Given the description of an element on the screen output the (x, y) to click on. 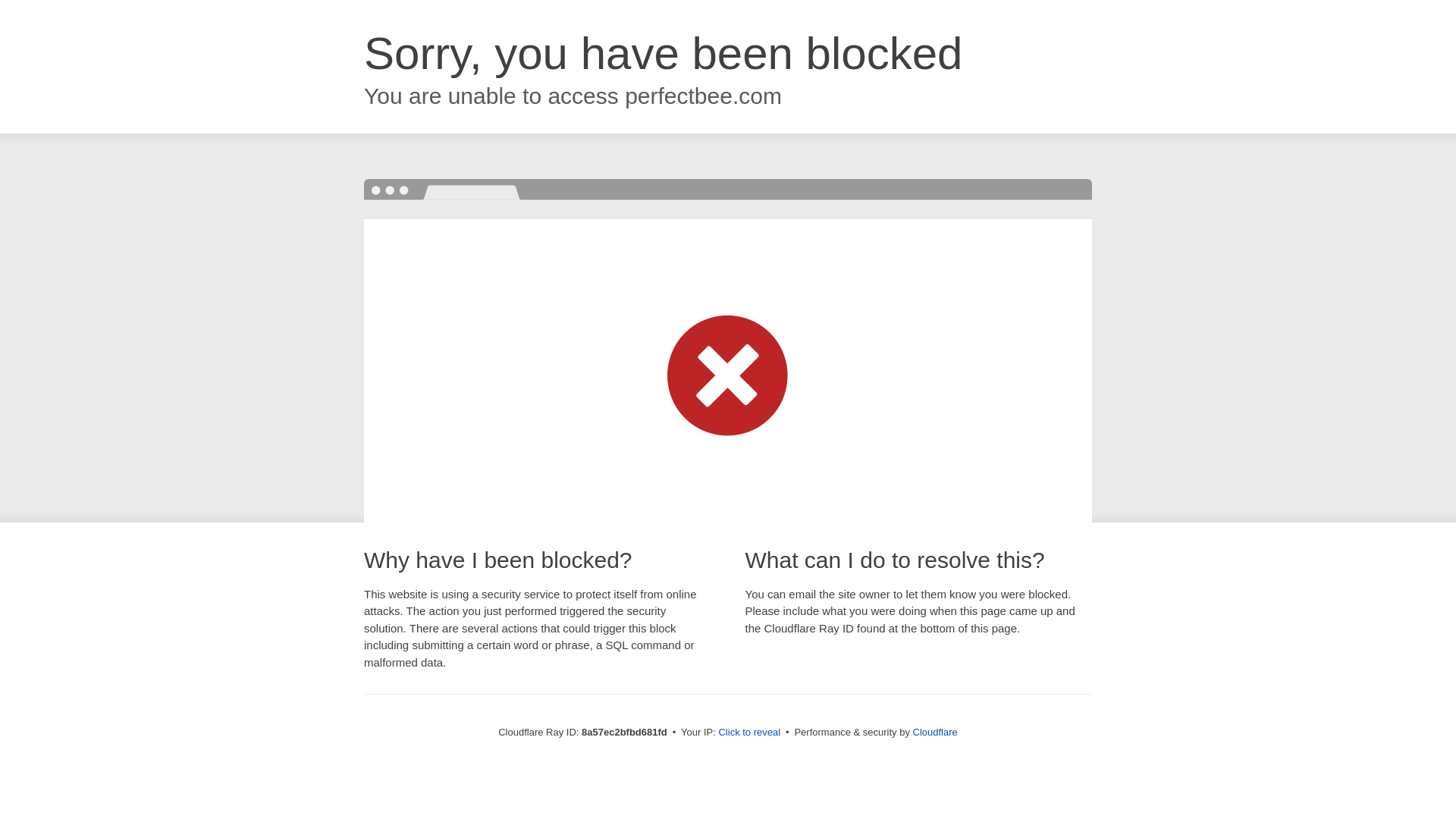
Click to reveal (748, 732)
Cloudflare (935, 731)
